Given the description of an element on the screen output the (x, y) to click on. 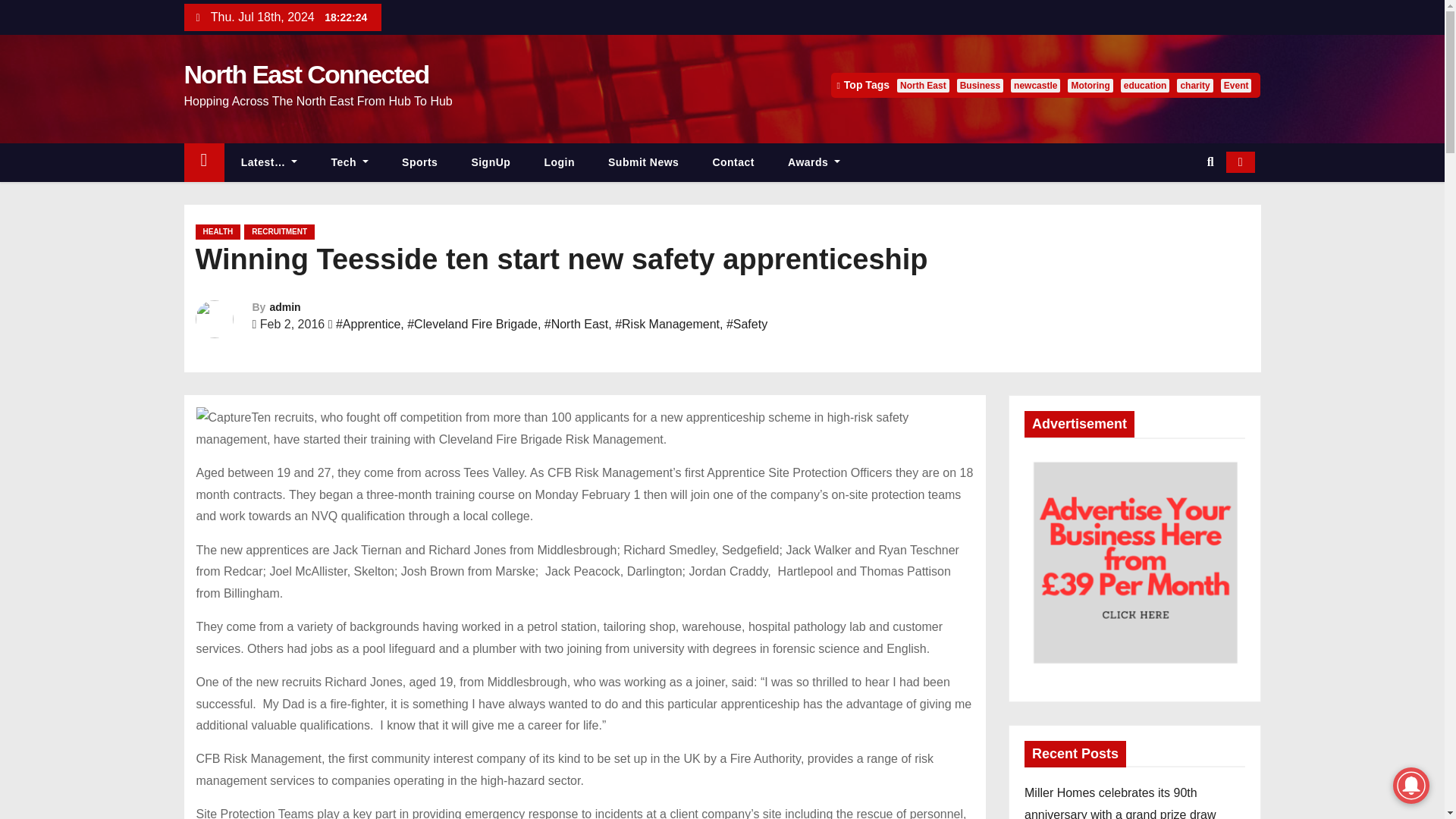
education (1145, 85)
charity (1194, 85)
Submit News (643, 162)
Login (559, 162)
SignUp (490, 162)
Event (1236, 85)
Motoring (1089, 85)
Login (559, 162)
Business (979, 85)
newcastle (1034, 85)
SignUp (490, 162)
RECRUITMENT (279, 231)
Sports (419, 162)
North East Connected (305, 73)
Contact (733, 162)
